Given the description of an element on the screen output the (x, y) to click on. 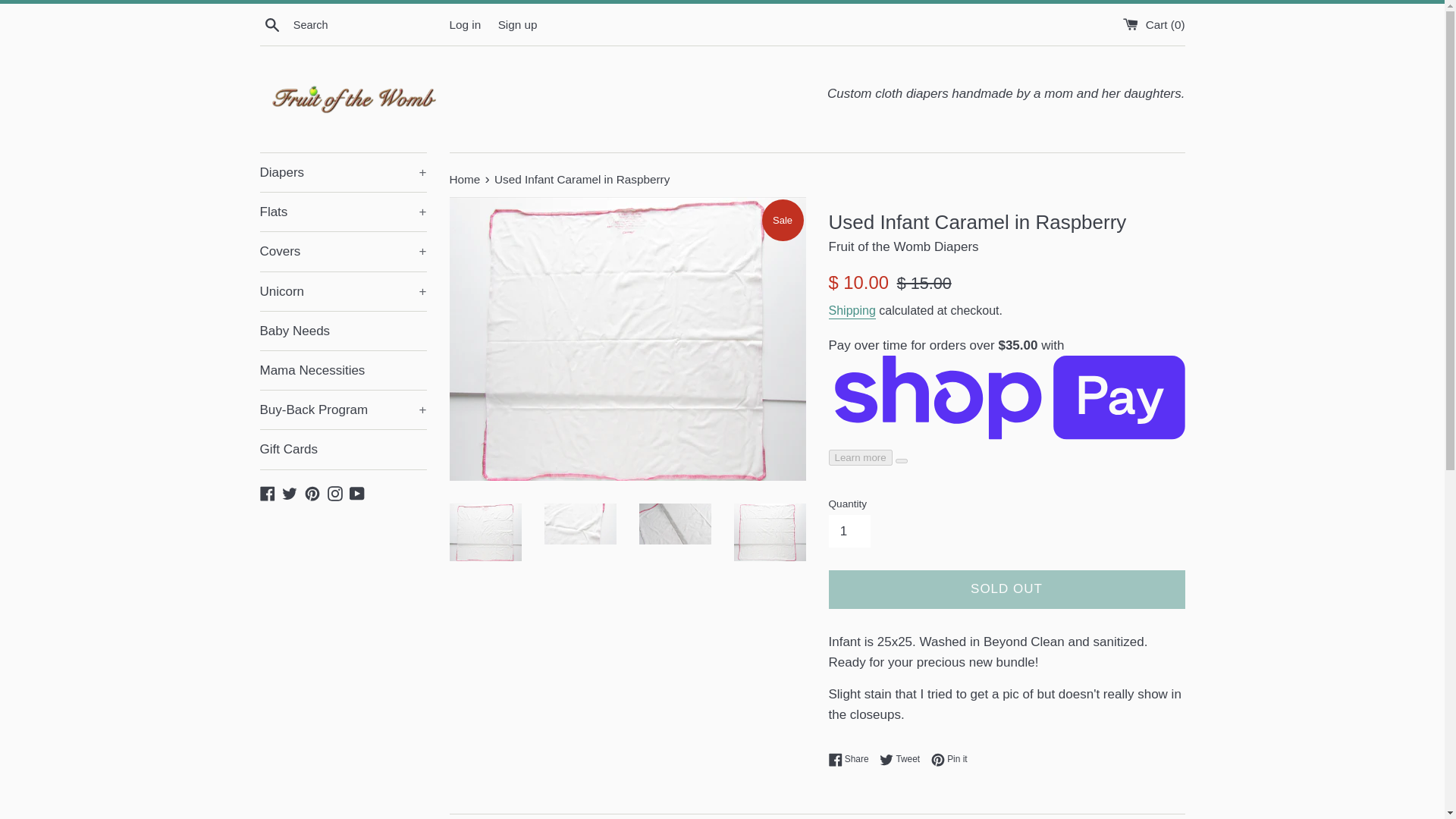
Fruit of the Womb Diapers on YouTube (357, 493)
Sign up (517, 24)
Share on Facebook (852, 759)
Gift Cards (342, 448)
Search (271, 24)
Twitter (289, 493)
Fruit of the Womb Diapers on Instagram (334, 493)
Mama Necessities (342, 370)
Baby Needs (342, 331)
Facebook (267, 493)
Fruit of the Womb Diapers on Pinterest (312, 493)
Back to the frontpage (465, 178)
Log in (464, 24)
Fruit of the Womb Diapers on Facebook (267, 493)
Pin on Pinterest (949, 759)
